Given the description of an element on the screen output the (x, y) to click on. 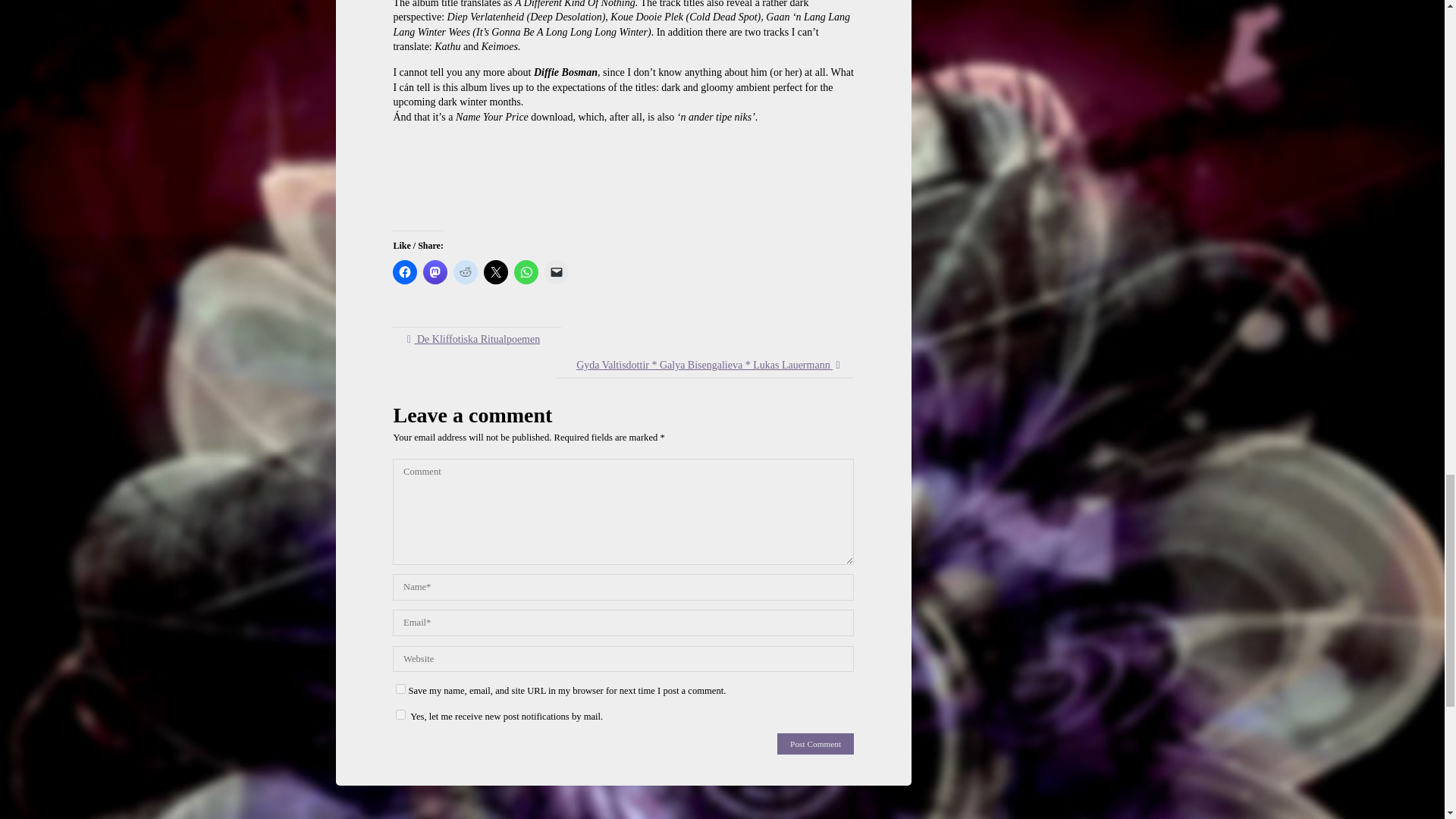
yes (401, 688)
1 (401, 714)
Post Comment (815, 743)
